Given the description of an element on the screen output the (x, y) to click on. 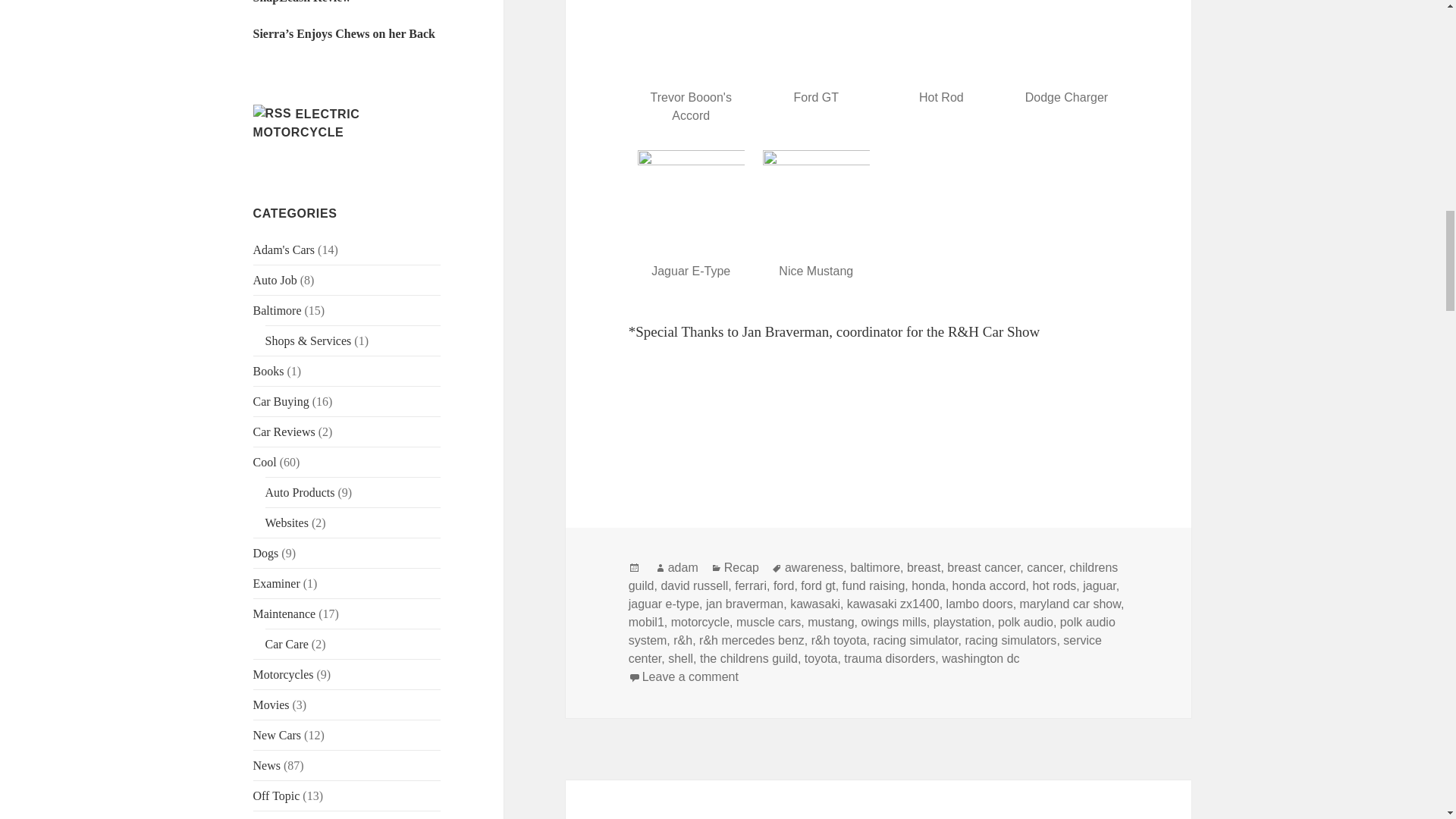
Auto Job (275, 279)
SnapLeash Review (301, 2)
Adam's Cars (284, 249)
ELECTRIC MOTORCYCLE (306, 122)
Baltimore (277, 309)
